Given the description of an element on the screen output the (x, y) to click on. 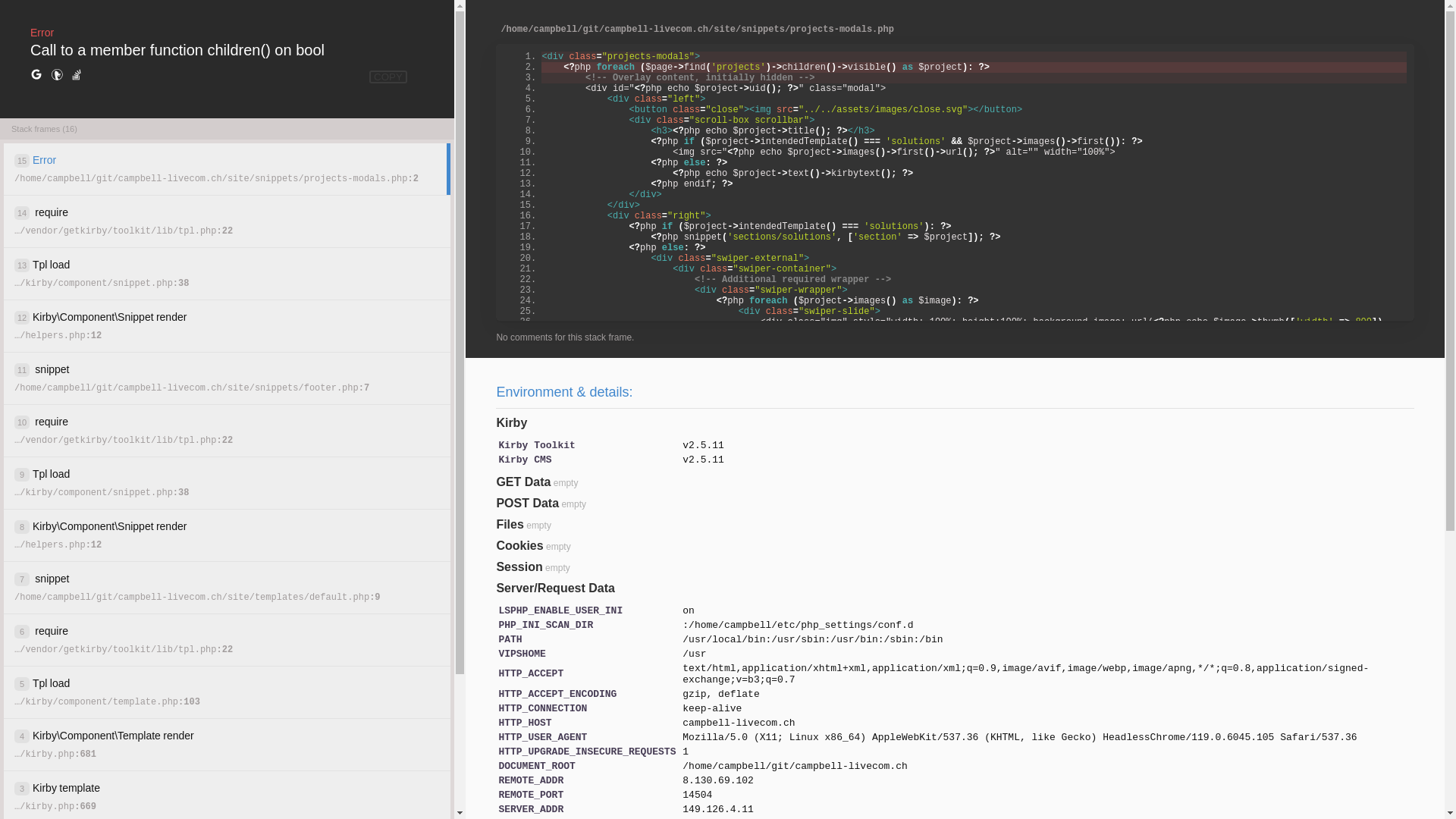
COPY Element type: text (388, 76)
Search for help on DuckDuckGo. Element type: hover (56, 74)
Search for help on Google. Element type: hover (36, 74)
Search for help on Stack Overflow. Element type: hover (76, 74)
